Given the description of an element on the screen output the (x, y) to click on. 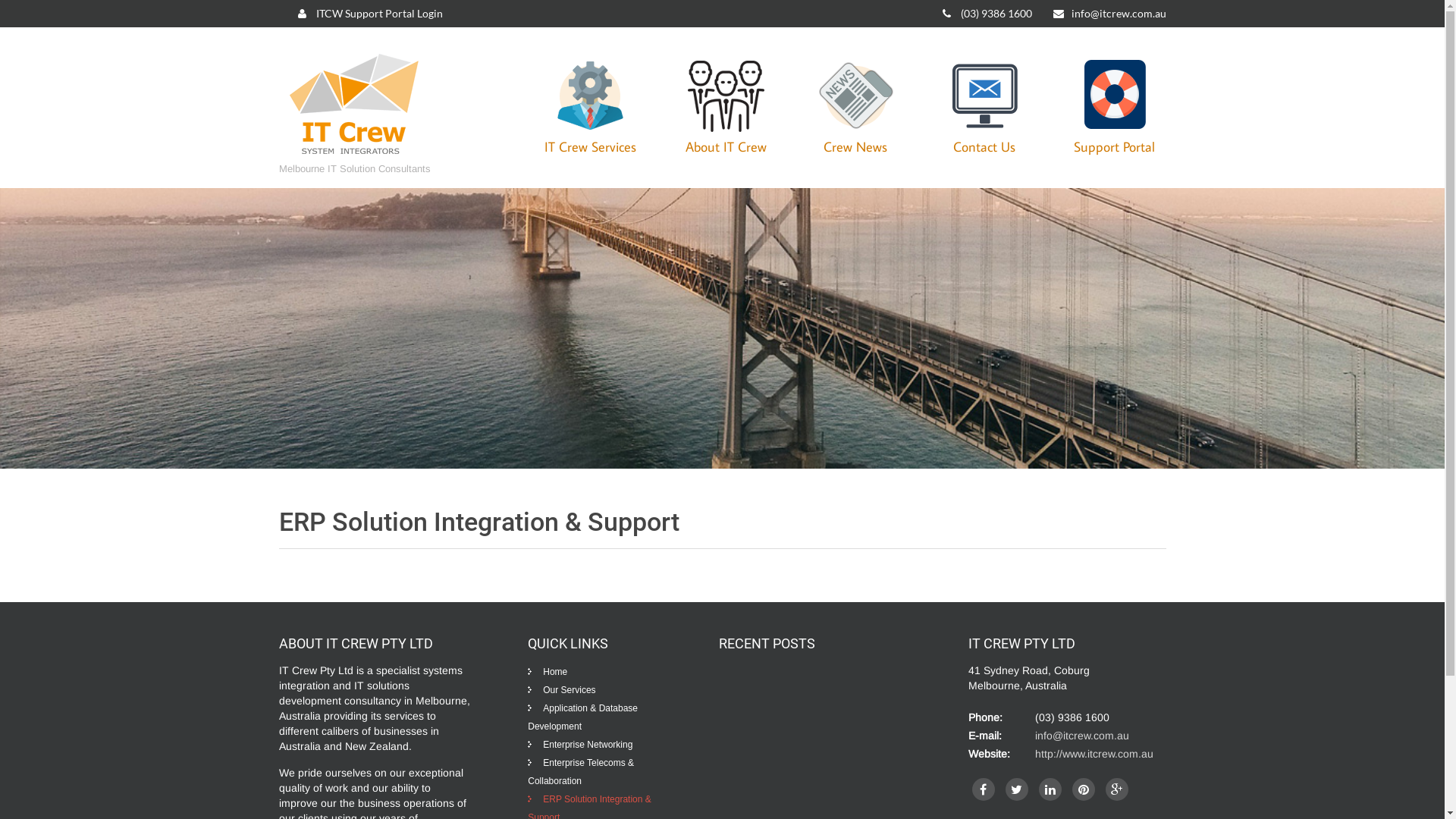
Enterprise Telecoms & Collaboration Element type: text (580, 771)
pinterest Element type: hover (1083, 789)
facebook Element type: hover (983, 789)
Contact Us Element type: text (983, 106)
google-plus Element type: hover (1116, 789)
About IT Crew Element type: text (725, 106)
Support Portal Element type: text (1113, 106)
Crew News Element type: text (854, 106)
twitter Element type: hover (1016, 789)
Home Element type: text (547, 671)
IT Crew Services Element type: text (589, 106)
ITCW Support Portal Login Element type: text (369, 12)
Application & Database Development Element type: text (582, 716)
http://www.itcrew.com.au Element type: text (1094, 753)
Enterprise Networking Element type: text (579, 744)
linkedin Element type: hover (1049, 789)
Our Services Element type: text (561, 689)
info@itcrew.com.au Element type: text (1108, 12)
Melbourne IT Solution Consultants Element type: text (354, 154)
info@itcrew.com.au Element type: text (1082, 735)
